Given the description of an element on the screen output the (x, y) to click on. 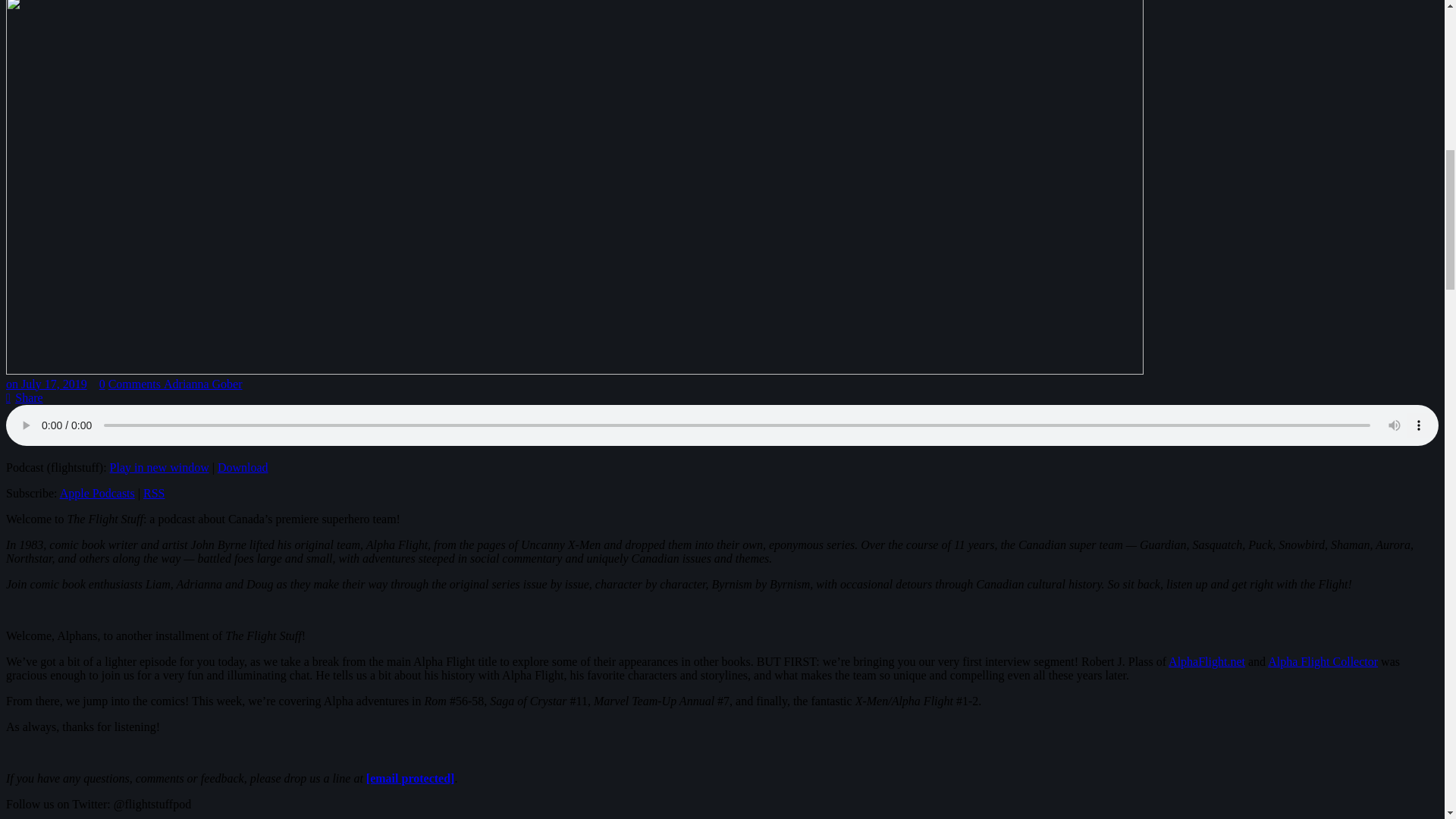
Subscribe on Apple Podcasts (97, 492)
Subscribe via RSS (153, 492)
Play in new window (159, 467)
Download (241, 467)
